Given the description of an element on the screen output the (x, y) to click on. 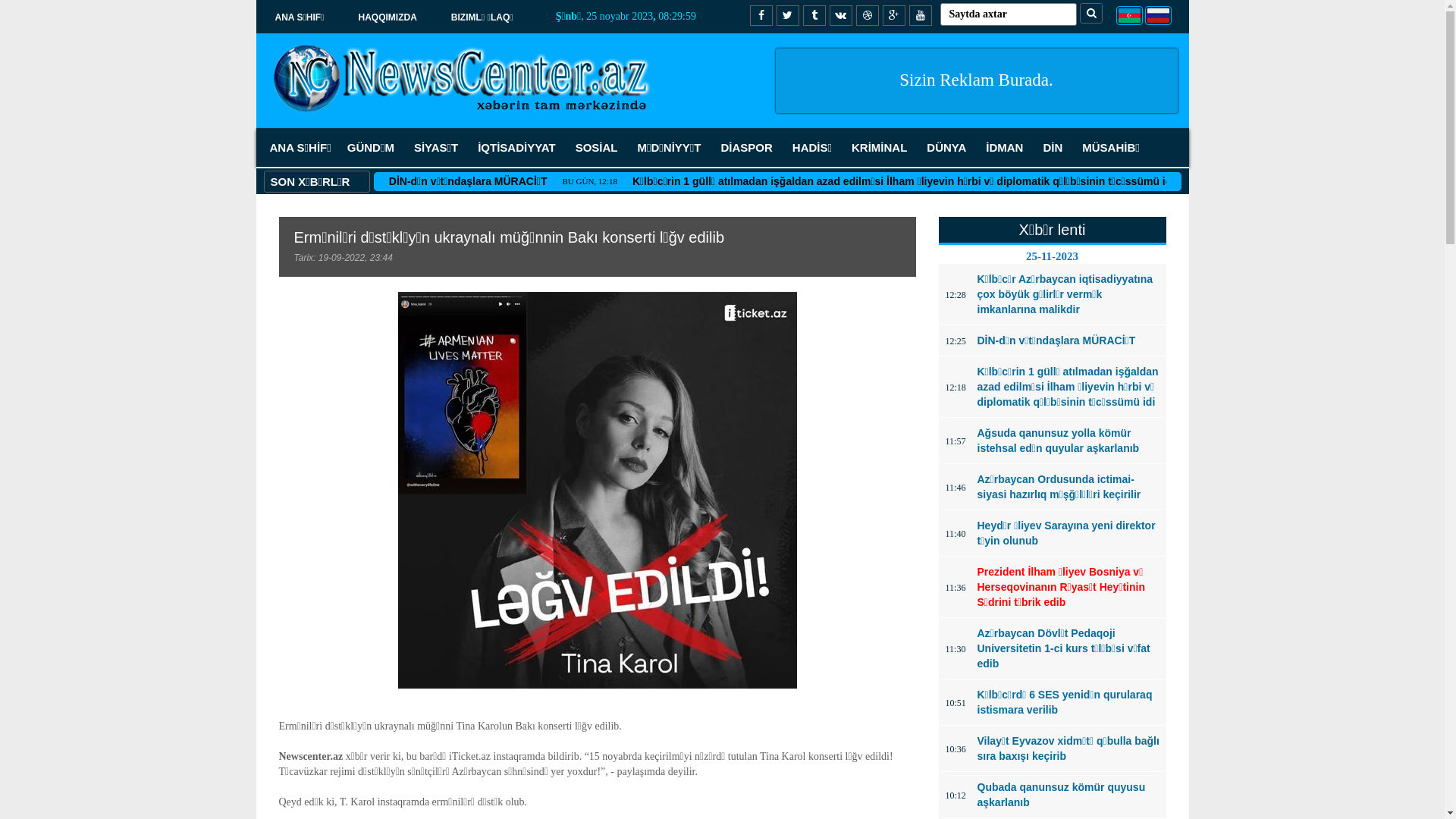
HAQQIMIZDA Element type: text (386, 17)
